Given the description of an element on the screen output the (x, y) to click on. 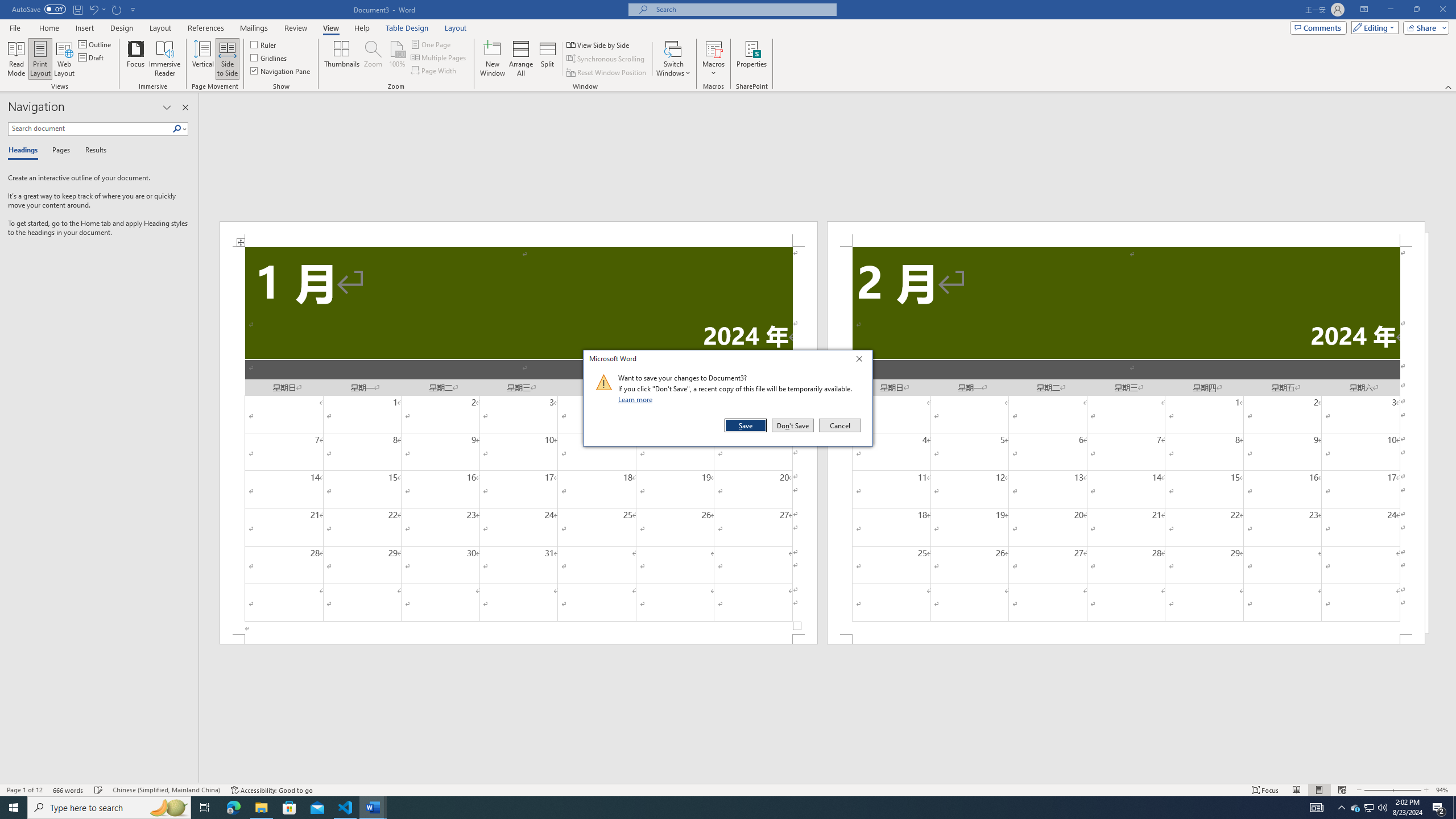
Split (547, 58)
Start (13, 807)
100% (396, 58)
Search highlights icon opens search home window (167, 807)
Microsoft Edge (233, 807)
Type here to search (108, 807)
